Given the description of an element on the screen output the (x, y) to click on. 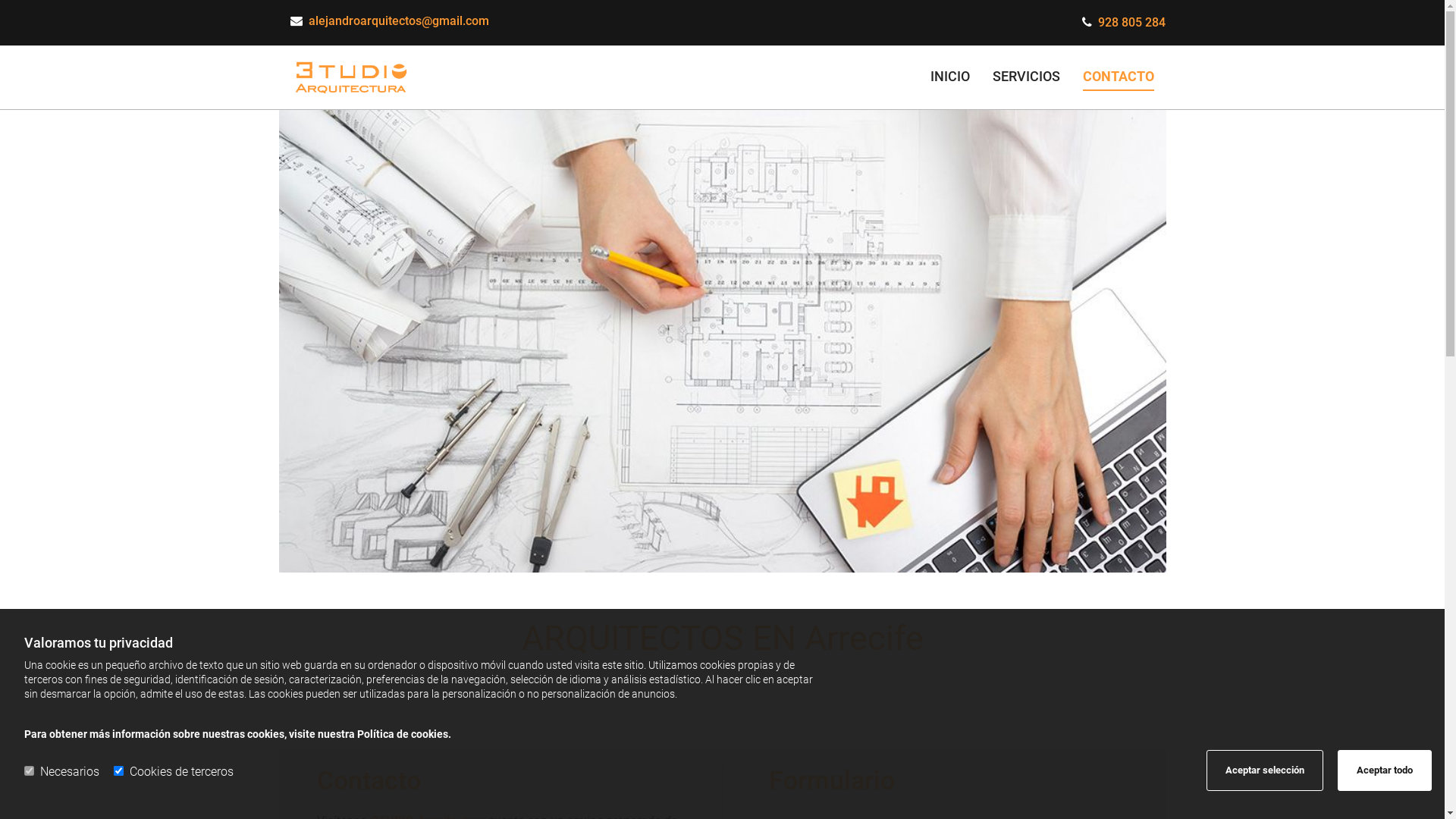
928 805 284 Element type: text (1131, 22)
tcH0NiLY/3tudio-arquitectura-banner.jpg Element type: hover (722, 340)
SERVICIOS Element type: text (1026, 77)
CONTACTO Element type: text (1118, 77)
alejandroarquitectos@gmail.com Element type: text (397, 20)
INICIO Element type: text (949, 77)
Aceptar todo Element type: text (1384, 769)
